Given the description of an element on the screen output the (x, y) to click on. 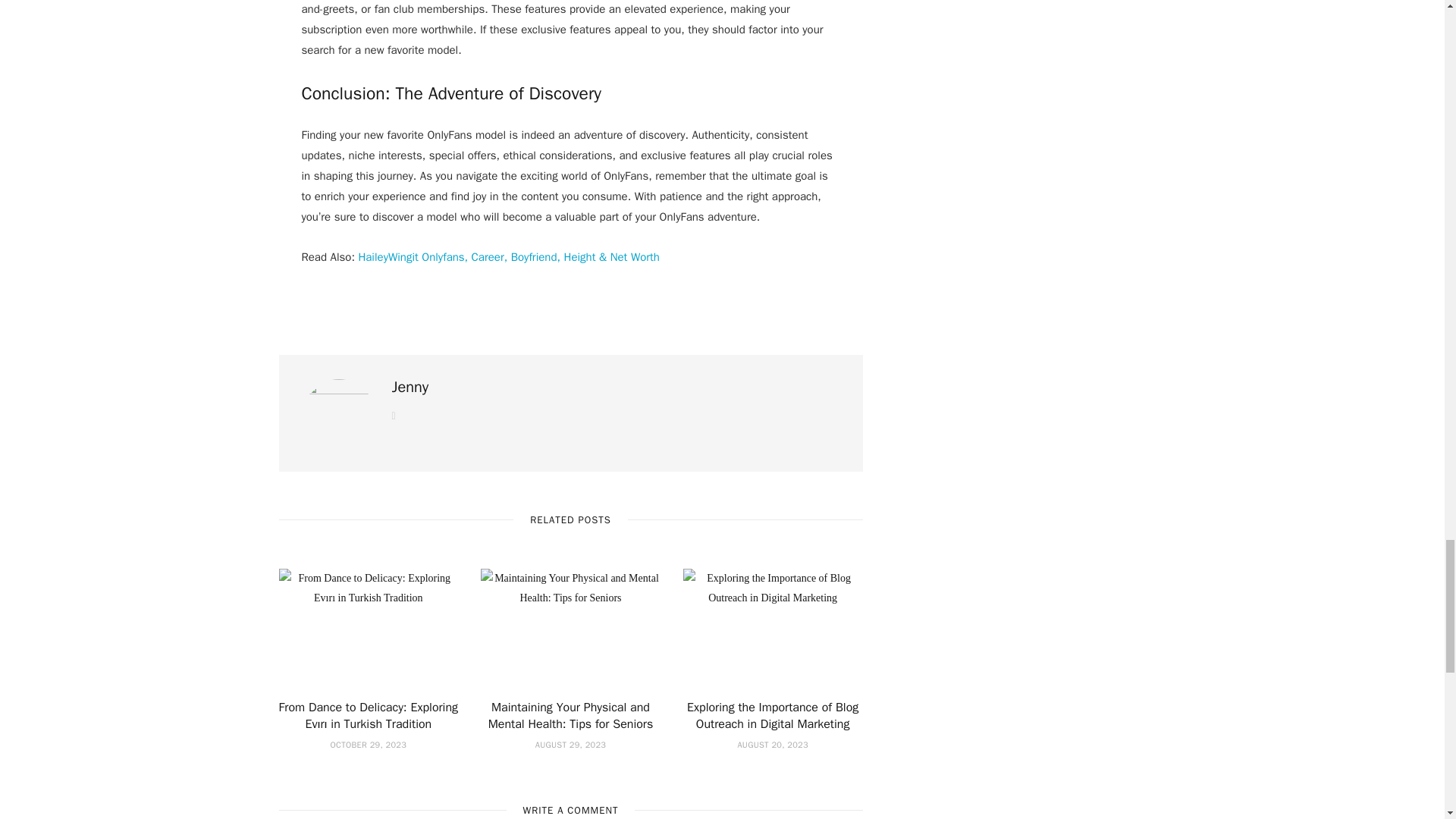
Jenny (409, 387)
AUGUST 29, 2023 (570, 744)
AUGUST 20, 2023 (772, 744)
OCTOBER 29, 2023 (368, 744)
Posts by Jenny (409, 387)
